Given the description of an element on the screen output the (x, y) to click on. 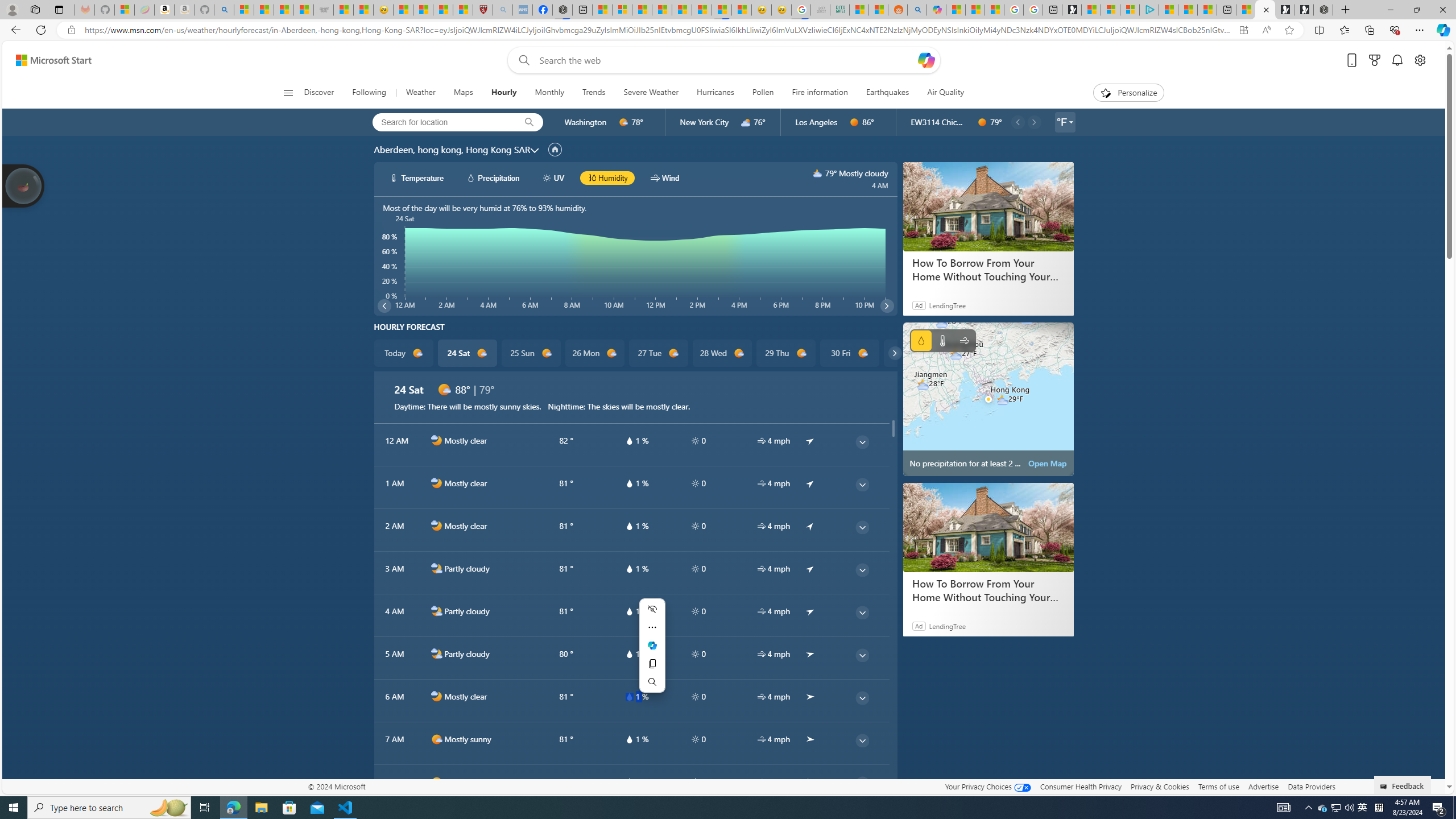
n3000 (817, 172)
n2000 (436, 654)
Aberdeen, hong kong, Hong Kong SAR (451, 149)
Hide menu (652, 609)
